Given the description of an element on the screen output the (x, y) to click on. 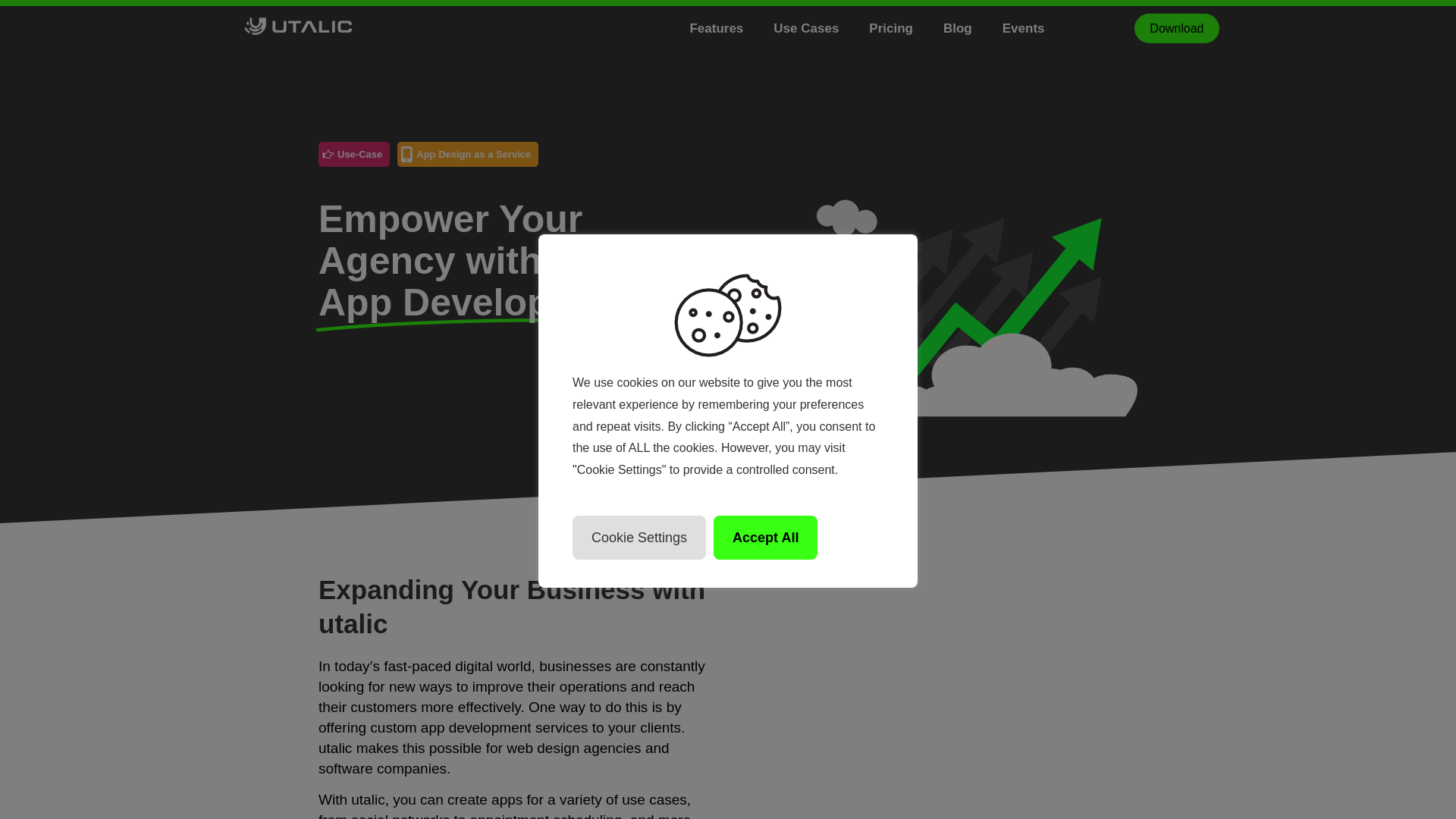
Download (1176, 28)
Blog (973, 27)
Pricing (906, 27)
Events (1039, 27)
Features (730, 27)
Use Cases (821, 27)
